Given the description of an element on the screen output the (x, y) to click on. 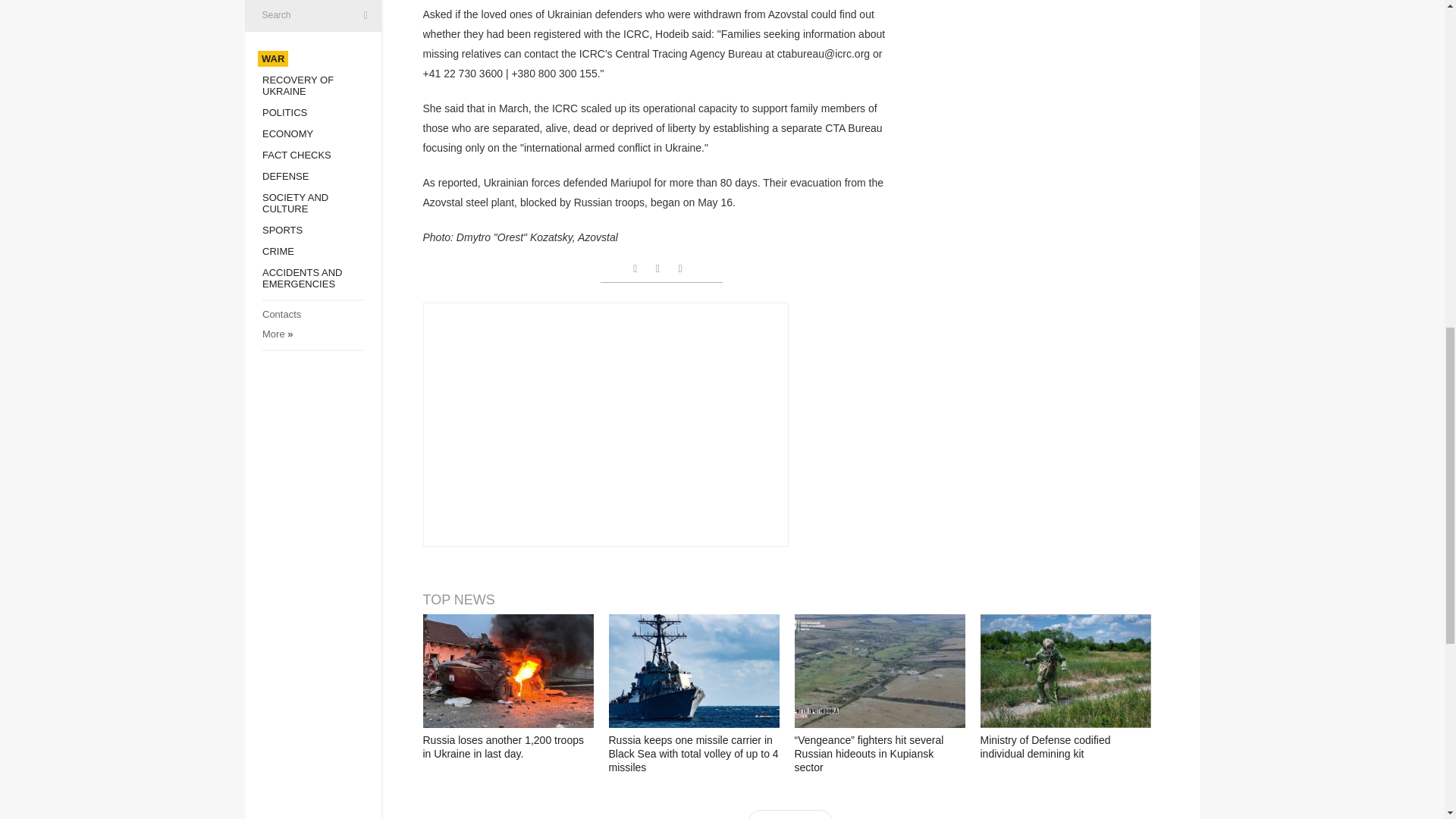
Ministry of Defense codified individual demining kit (1064, 671)
Russia loses another 1,200 troops in Ukraine in last day. (508, 671)
